Given the description of an element on the screen output the (x, y) to click on. 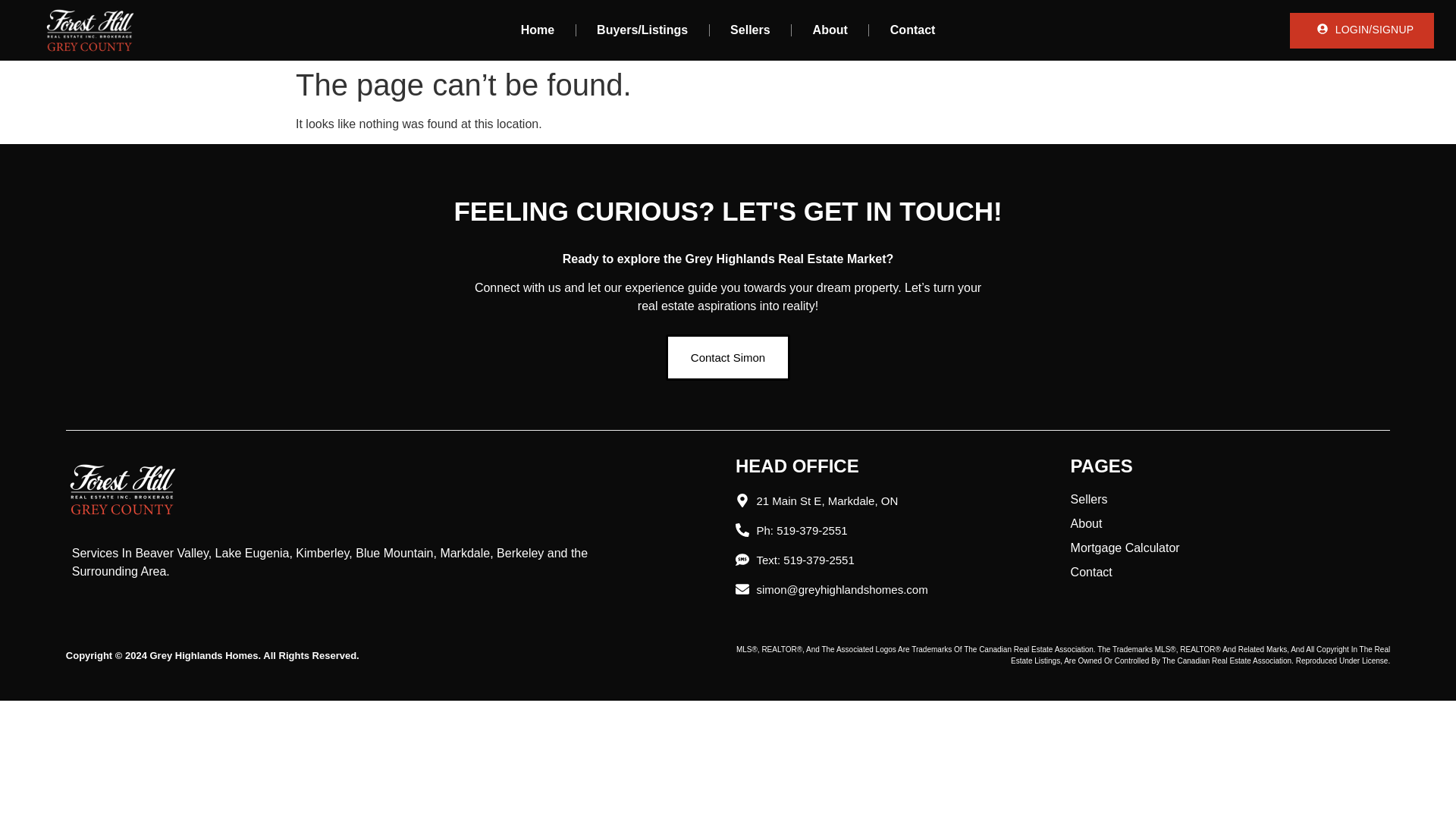
About (830, 30)
Contact Simon (727, 357)
Sellers (749, 30)
Ph: 519-379-2551 (883, 530)
Mortgage Calculator (1230, 547)
Sellers (1230, 499)
Text: 519-379-2551 (883, 559)
About (1230, 524)
Contact (912, 30)
Home (537, 30)
